Given the description of an element on the screen output the (x, y) to click on. 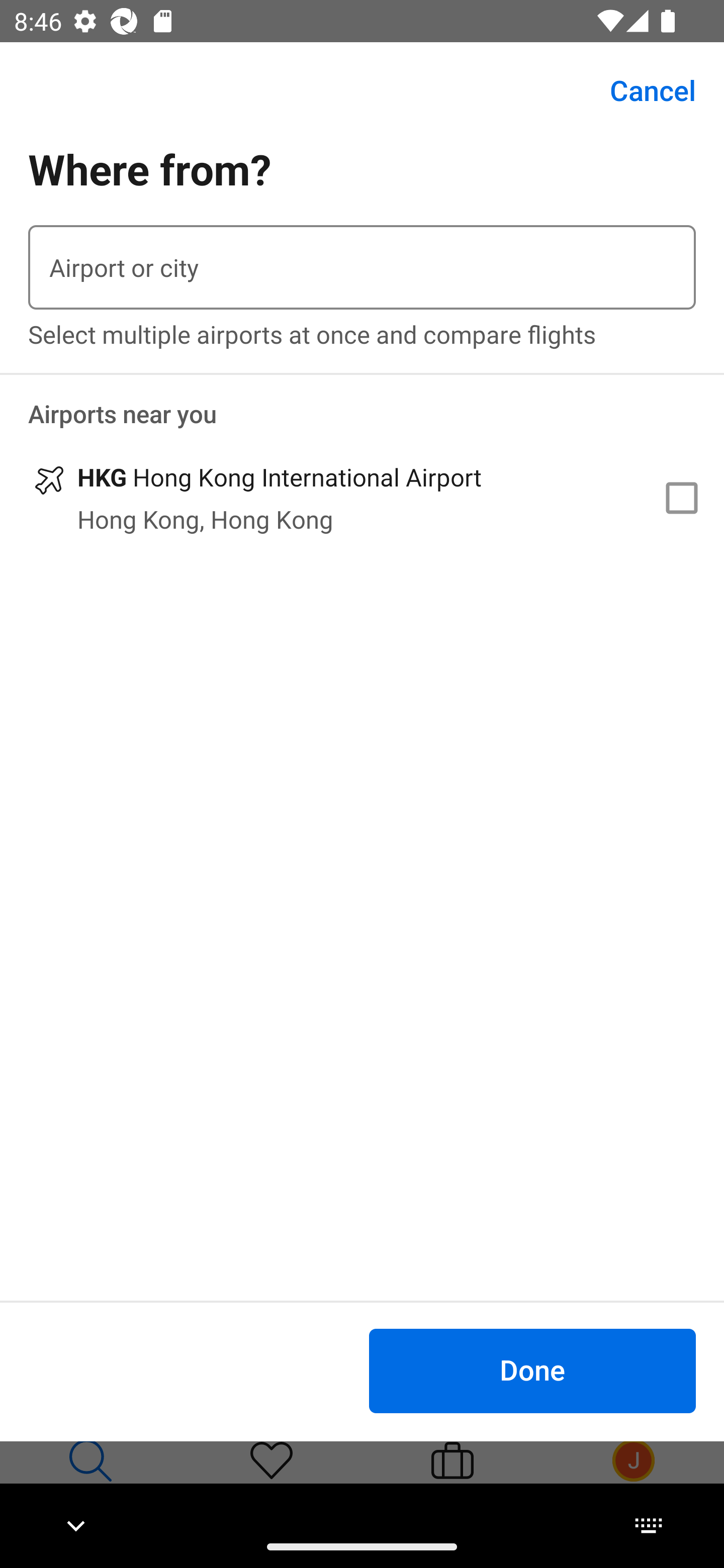
Cancel (641, 90)
Airport or city (361, 266)
Done (532, 1370)
